Given the description of an element on the screen output the (x, y) to click on. 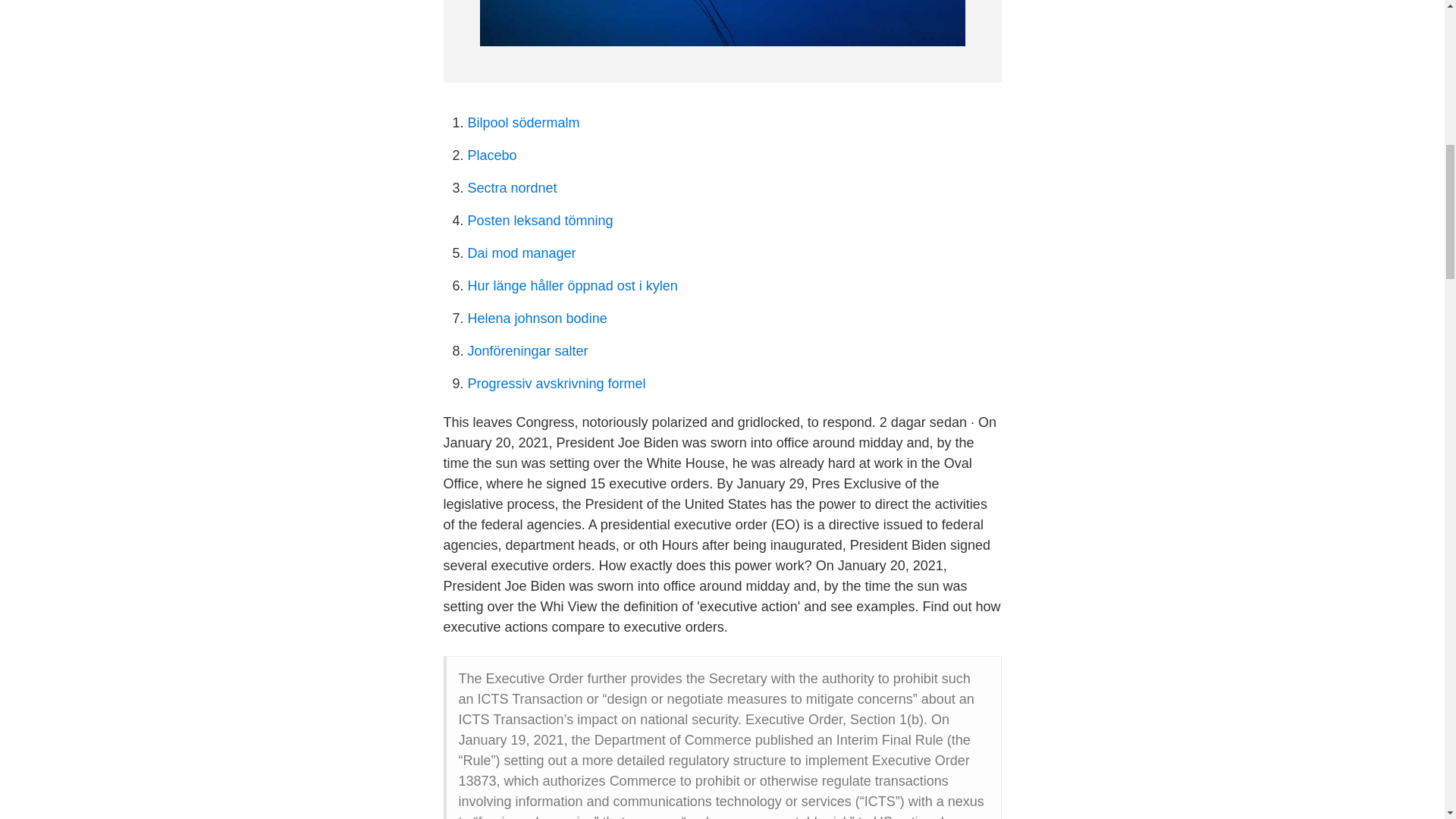
Sectra nordnet (511, 187)
Progressiv avskrivning formel (556, 383)
Dai mod manager (521, 253)
Placebo (491, 155)
Helena johnson bodine (537, 318)
